Given the description of an element on the screen output the (x, y) to click on. 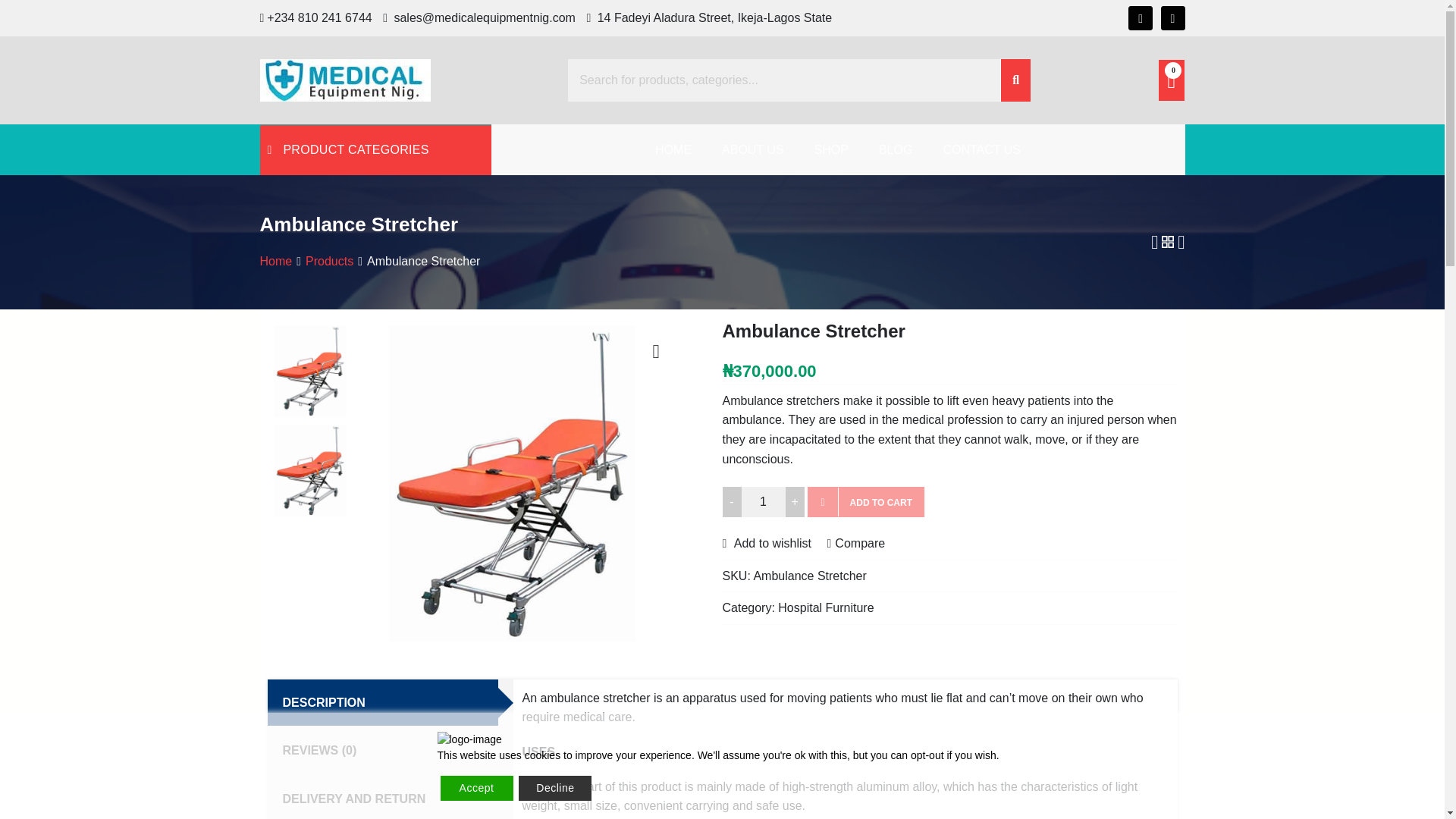
1 (763, 501)
View your shopping cart (1171, 79)
- (731, 501)
Qty (763, 501)
Medical Equipment (363, 115)
f1 (207, 481)
0 (1171, 79)
f1 (314, 469)
f1 (314, 369)
  14 Fadeyi Aladura Street, Ikeja-Lagos State (708, 17)
f1 (528, 481)
